Given the description of an element on the screen output the (x, y) to click on. 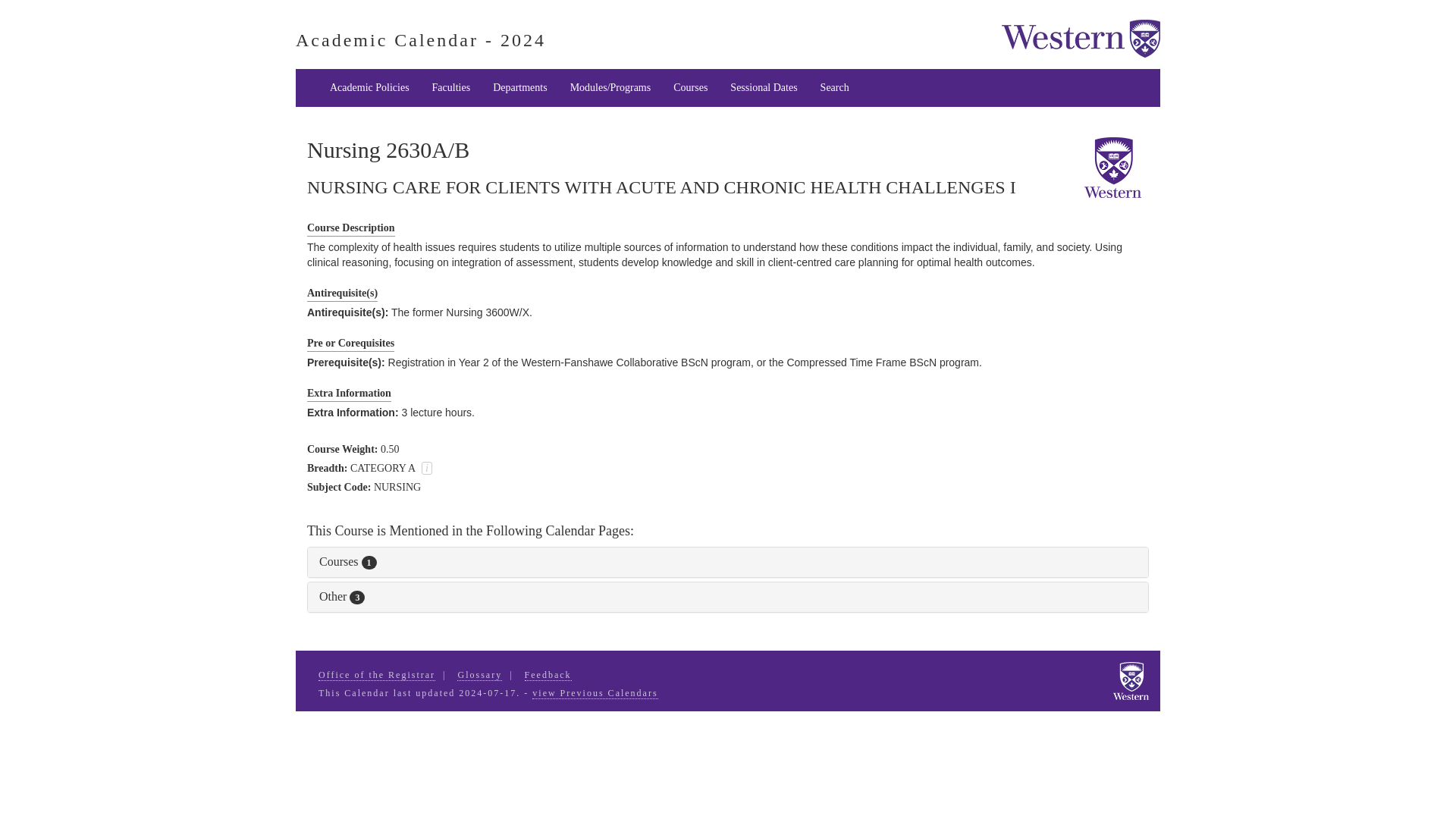
Courses (690, 87)
Faculties (450, 87)
Academic Policies (369, 87)
Search (834, 87)
Courses 1 (347, 561)
Sessional Dates (763, 87)
Glossary (479, 674)
Academic Calendar - 2024 (420, 39)
Feedback (548, 674)
Departments (520, 87)
Office of the Registrar (376, 674)
Other 3 (341, 595)
